Given the description of an element on the screen output the (x, y) to click on. 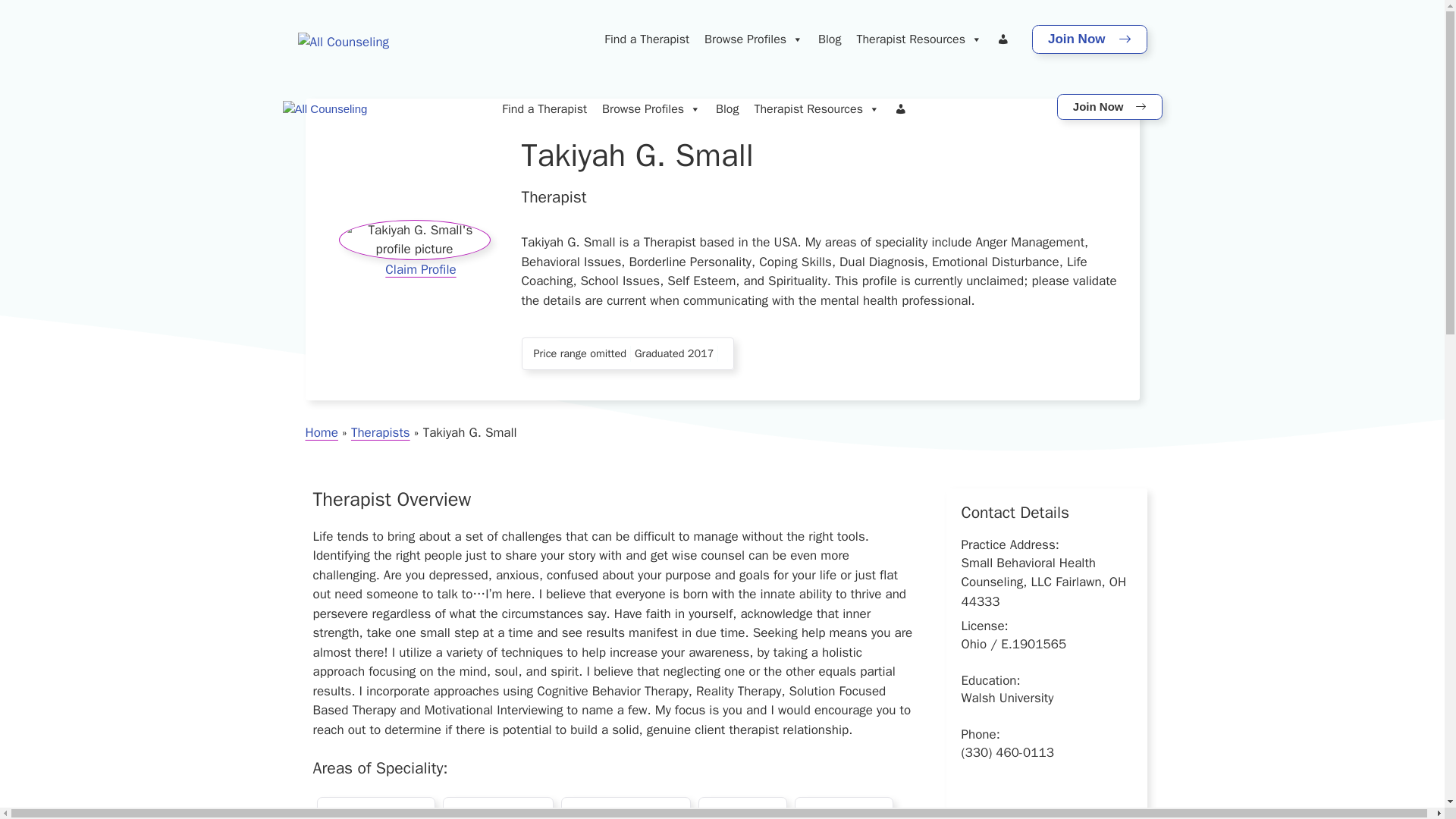
Browse Profiles (753, 39)
Blog (829, 39)
Find a Therapist (646, 39)
Therapist Resources (918, 39)
Browse Profiles (650, 109)
Join Now (1089, 39)
All Counseling (324, 108)
Find a Therapist (544, 109)
Takiyah G. Small (413, 240)
